Given the description of an element on the screen output the (x, y) to click on. 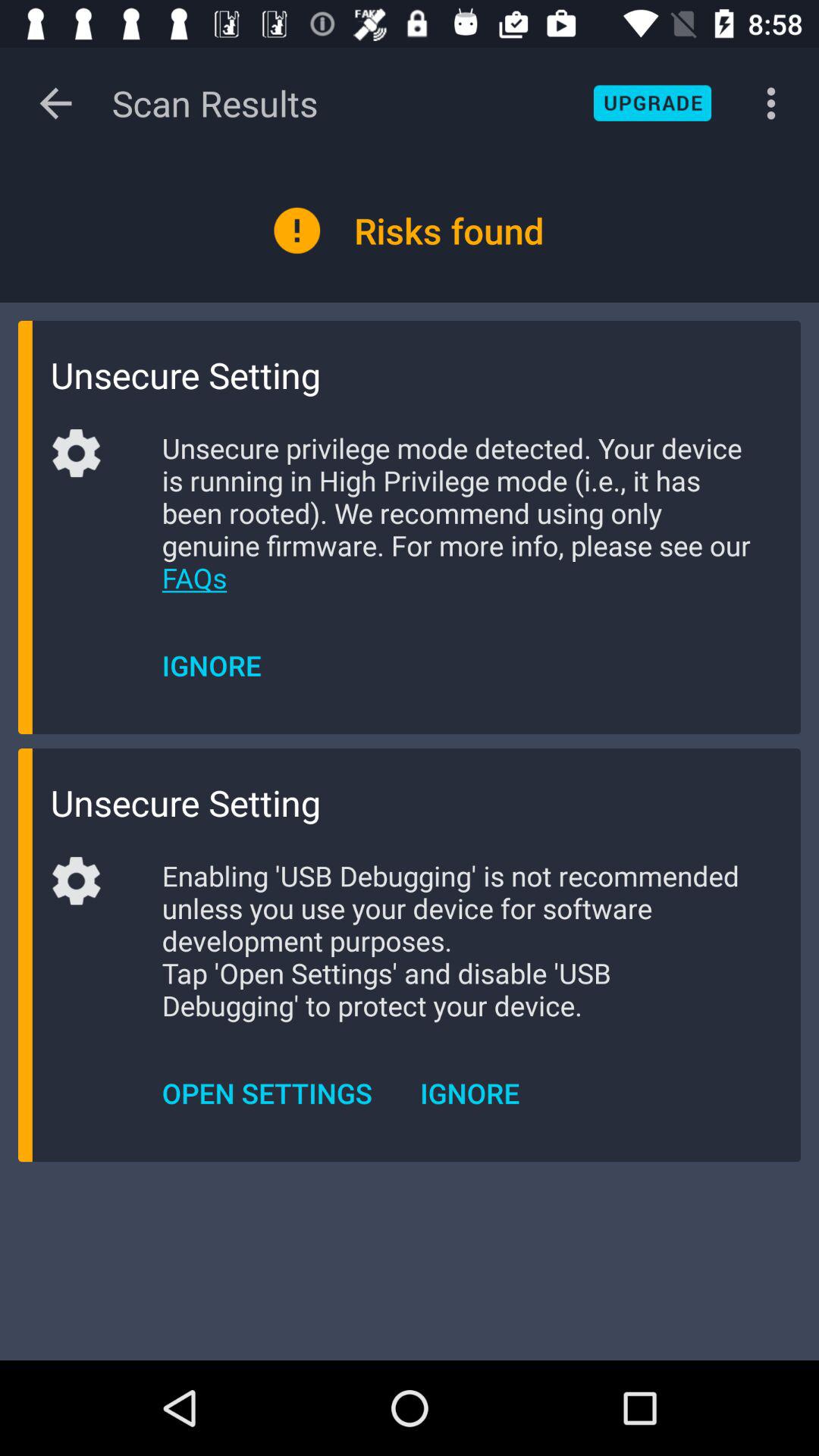
go to the top corner (652, 103)
